Given the description of an element on the screen output the (x, y) to click on. 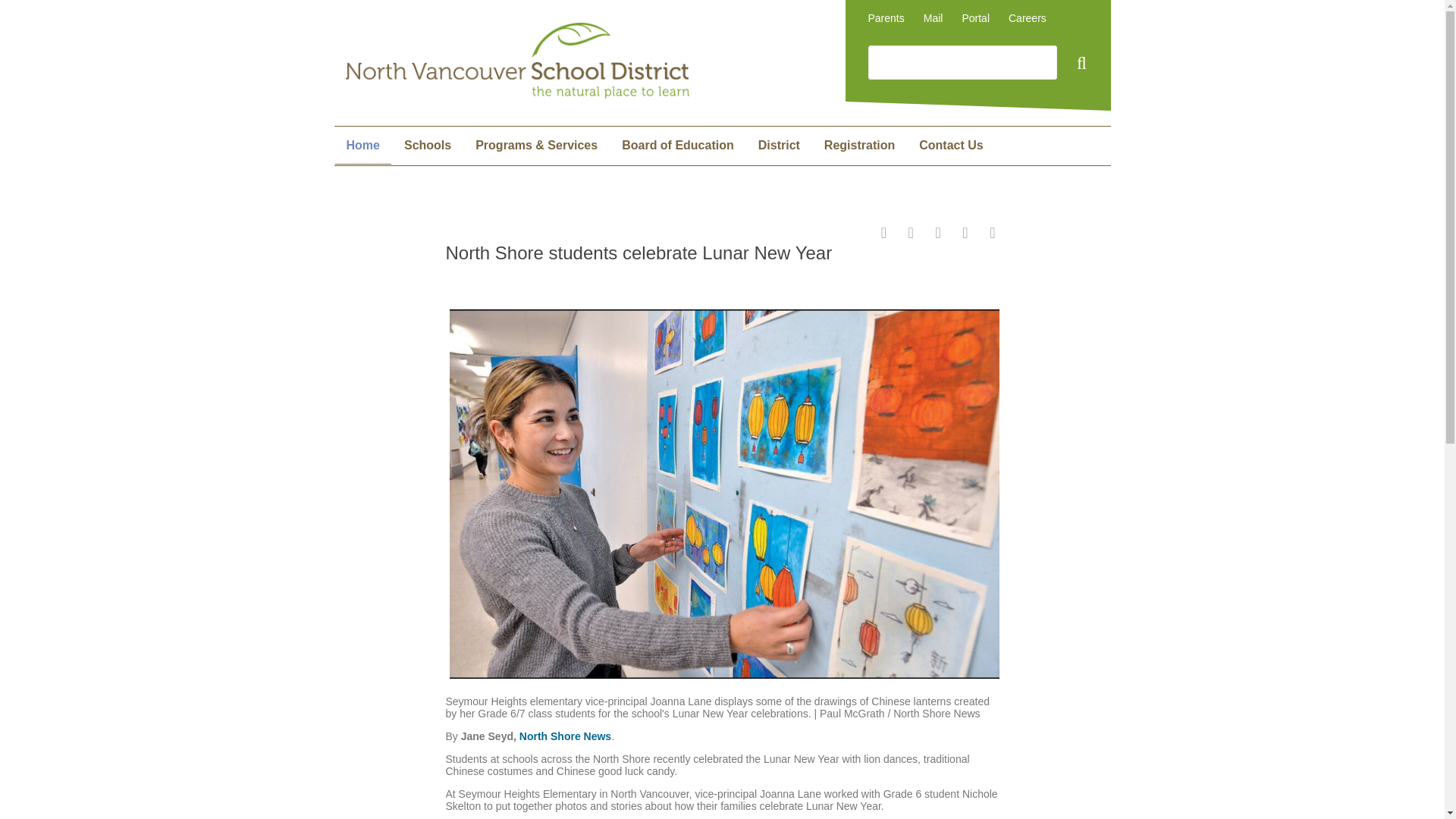
Schools (427, 145)
Search (1079, 64)
twitter (905, 233)
Mail (933, 18)
Portal (975, 18)
A Scholantis site with a 2 column page layout. (950, 145)
Back to Home (517, 94)
facebook (877, 233)
email (932, 233)
Parents (885, 18)
Search... (962, 62)
Home (362, 145)
Careers (1027, 18)
